Given the description of an element on the screen output the (x, y) to click on. 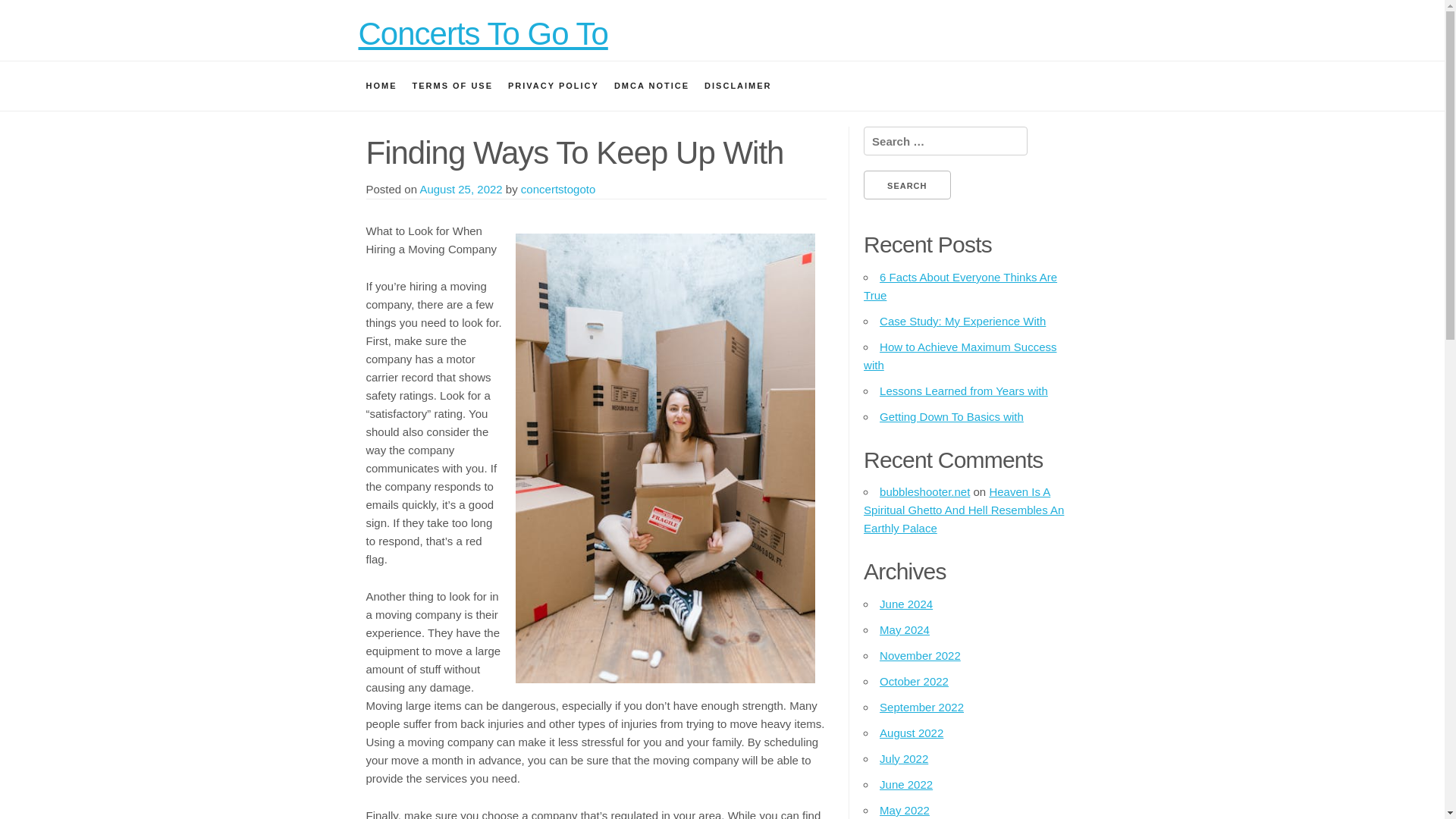
HOME (381, 85)
6 Facts About Everyone Thinks Are True (960, 286)
How to Achieve Maximum Success with (960, 355)
June 2024 (906, 603)
PRIVACY POLICY (553, 85)
Getting Down To Basics with (951, 416)
DMCA NOTICE (652, 85)
DISCLAIMER (737, 85)
June 2022 (906, 784)
Lessons Learned from Years with (963, 390)
concertstogoto (558, 188)
Search (906, 184)
bubbleshooter.net (924, 491)
August 2022 (911, 732)
Search (906, 184)
